Given the description of an element on the screen output the (x, y) to click on. 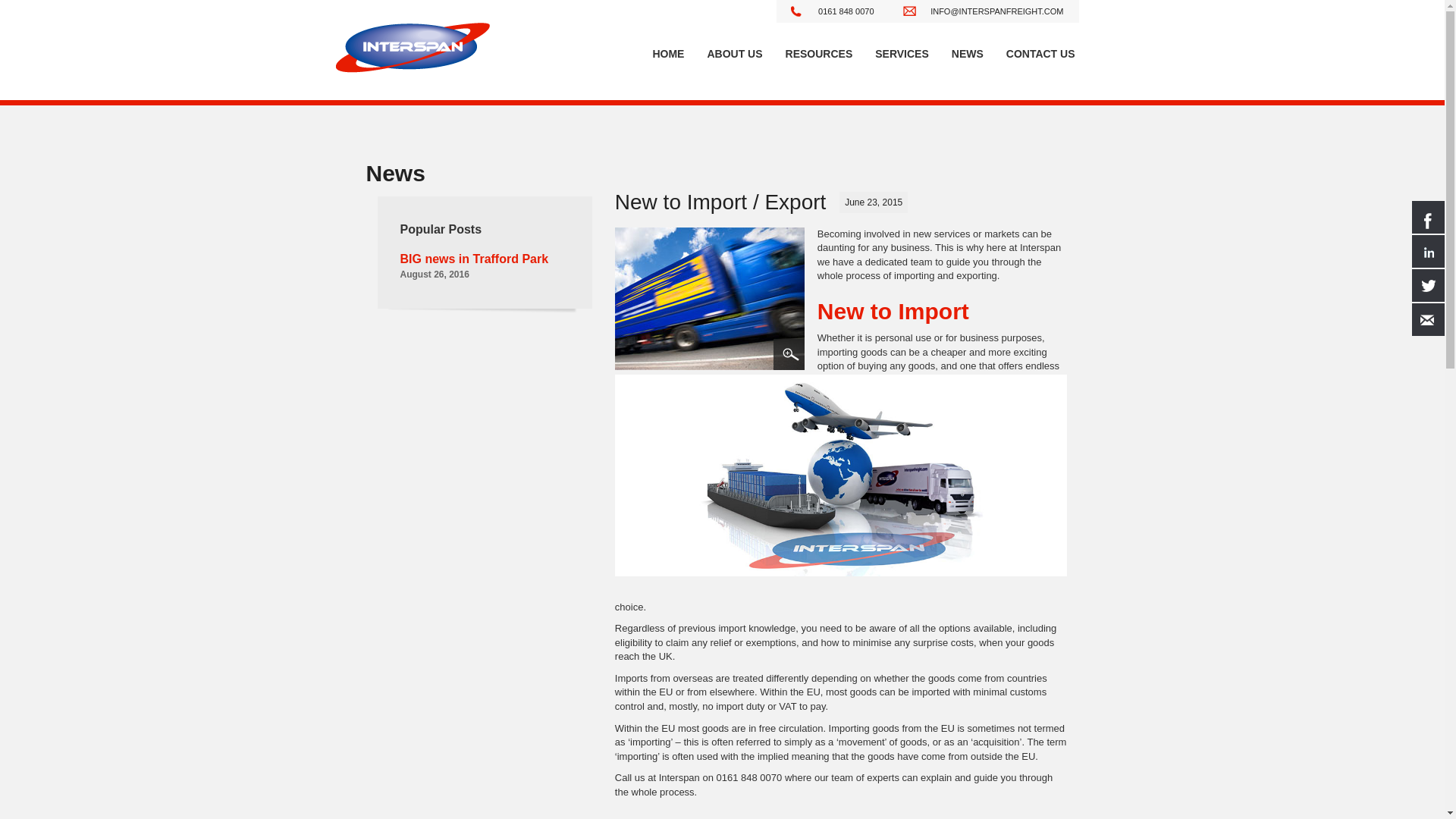
RESOURCES (819, 53)
SERVICES (901, 53)
NEWS (967, 53)
BIG news in Trafford Park (474, 258)
ABOUT US (734, 53)
CONTACT US (1040, 53)
BIG news in Trafford Park (474, 258)
HOME (667, 53)
